Given the description of an element on the screen output the (x, y) to click on. 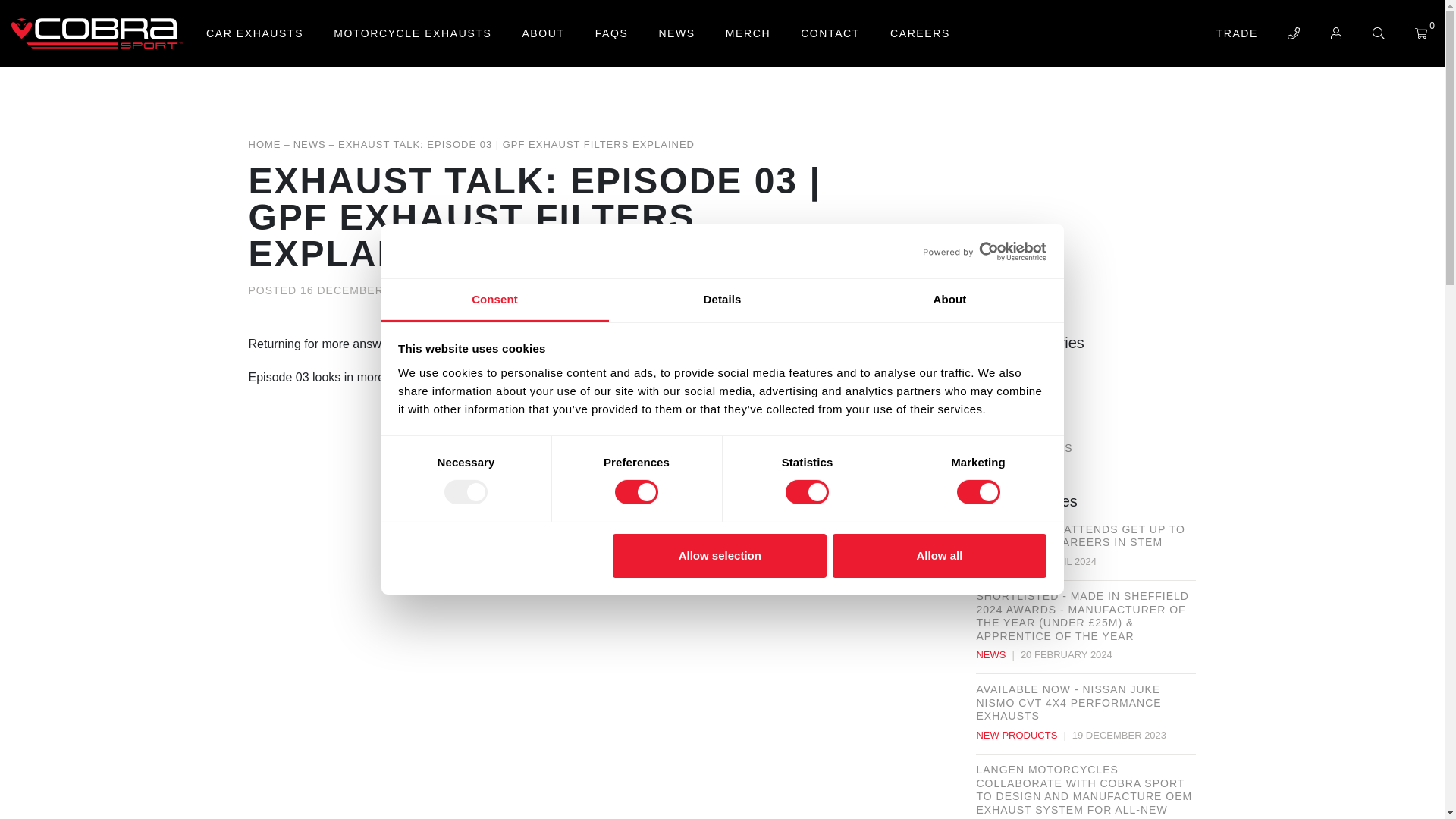
Details (721, 300)
About (948, 300)
Consent (494, 300)
